Given the description of an element on the screen output the (x, y) to click on. 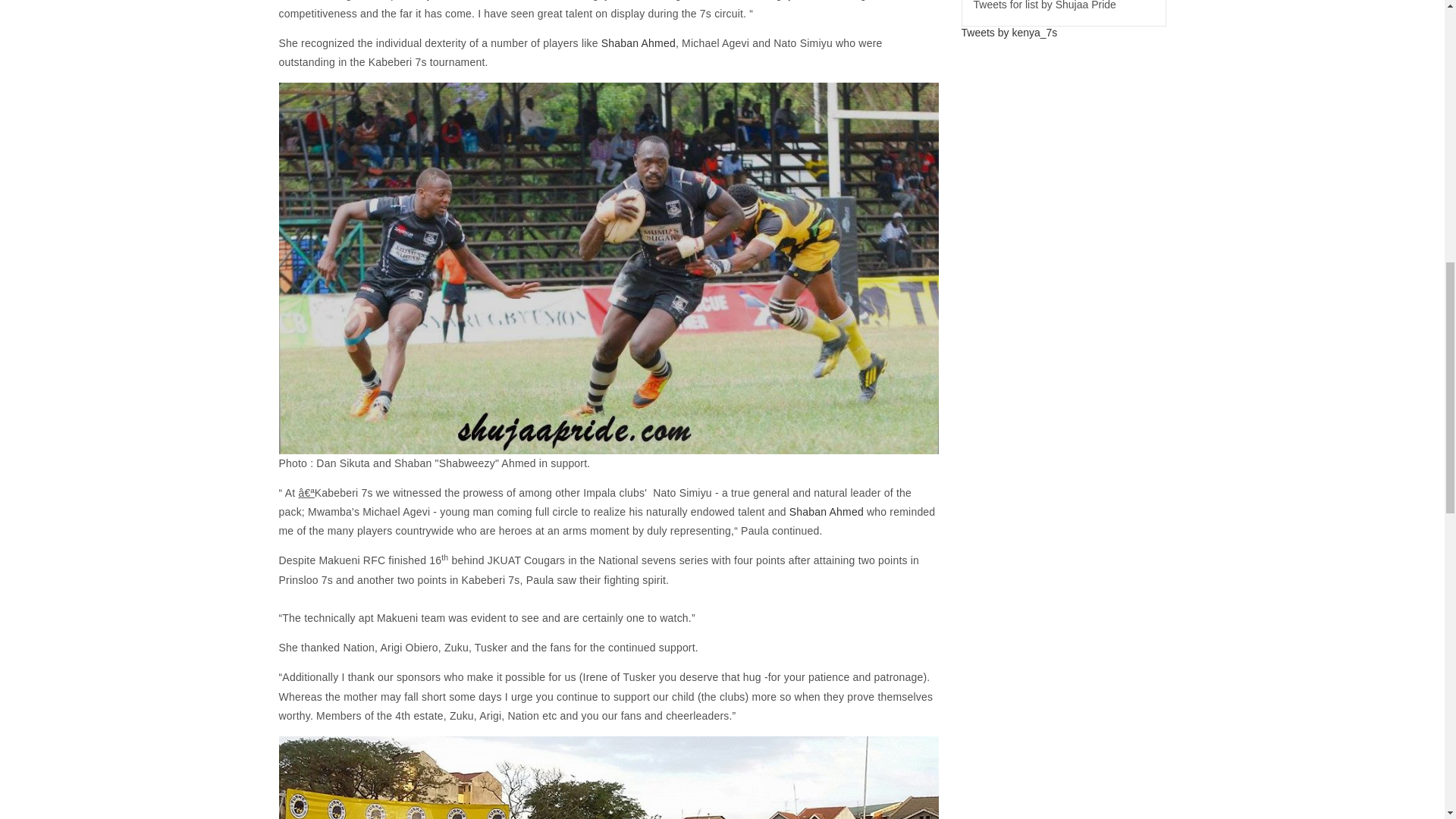
Shaban Ahmed (638, 42)
Shaban Ahmed (826, 511)
